Given the description of an element on the screen output the (x, y) to click on. 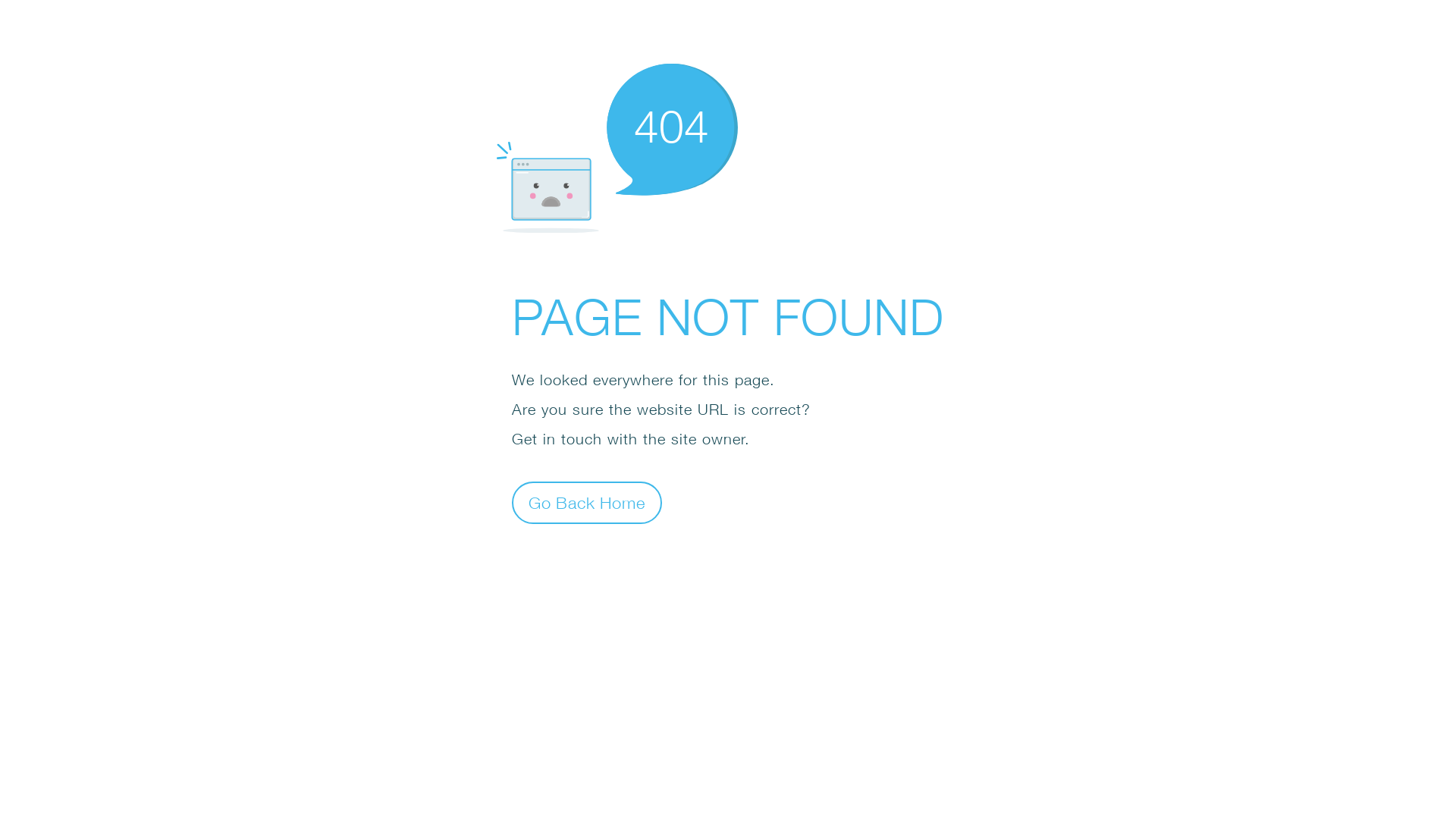
Go Back Home Element type: text (586, 502)
